Given the description of an element on the screen output the (x, y) to click on. 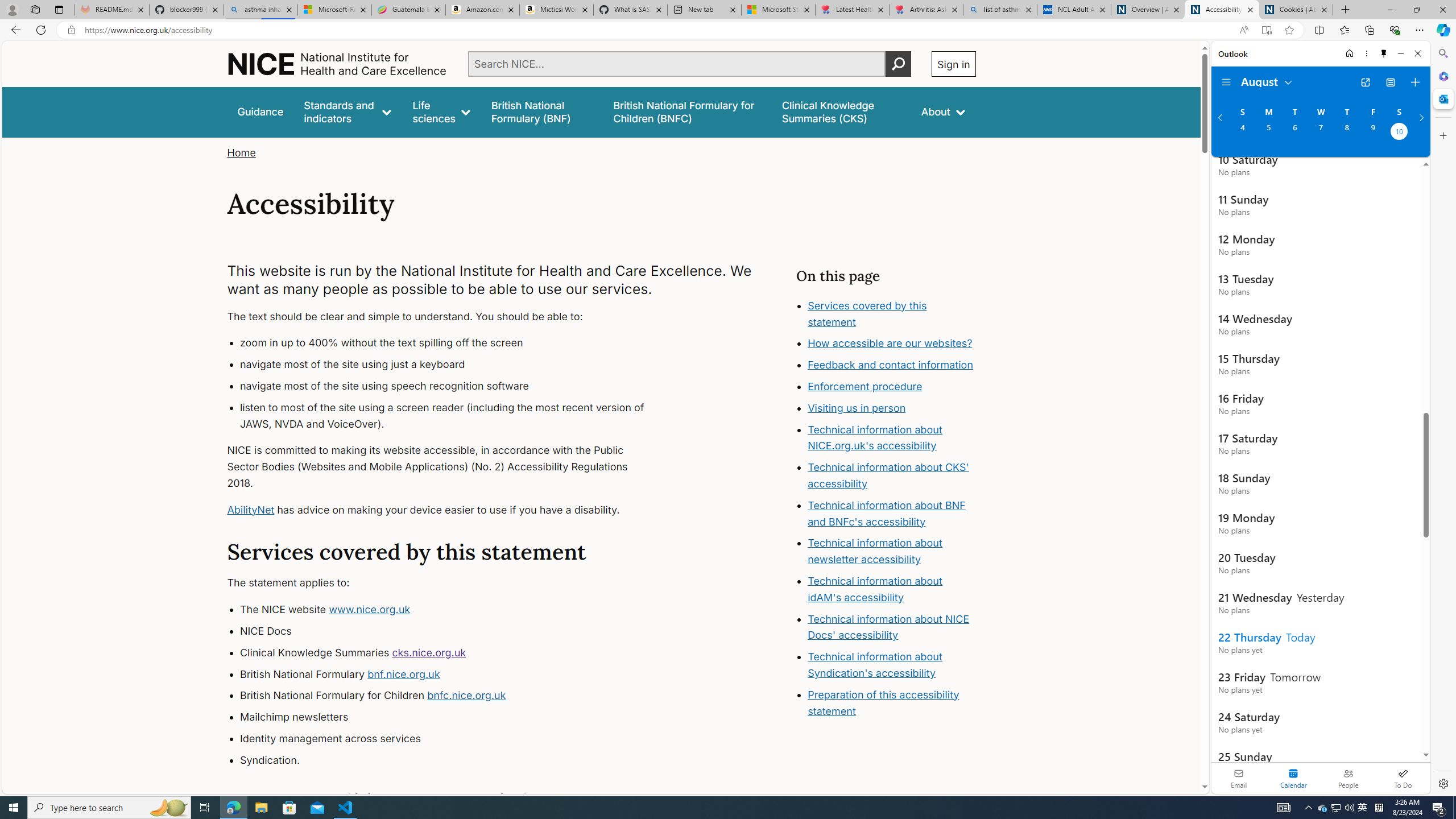
Syndication. (452, 760)
Thursday, August 8, 2024.  (1346, 132)
People (1347, 777)
Open in new tab (1365, 82)
Technical information about BNF and BNFc's accessibility (886, 512)
